Given the description of an element on the screen output the (x, y) to click on. 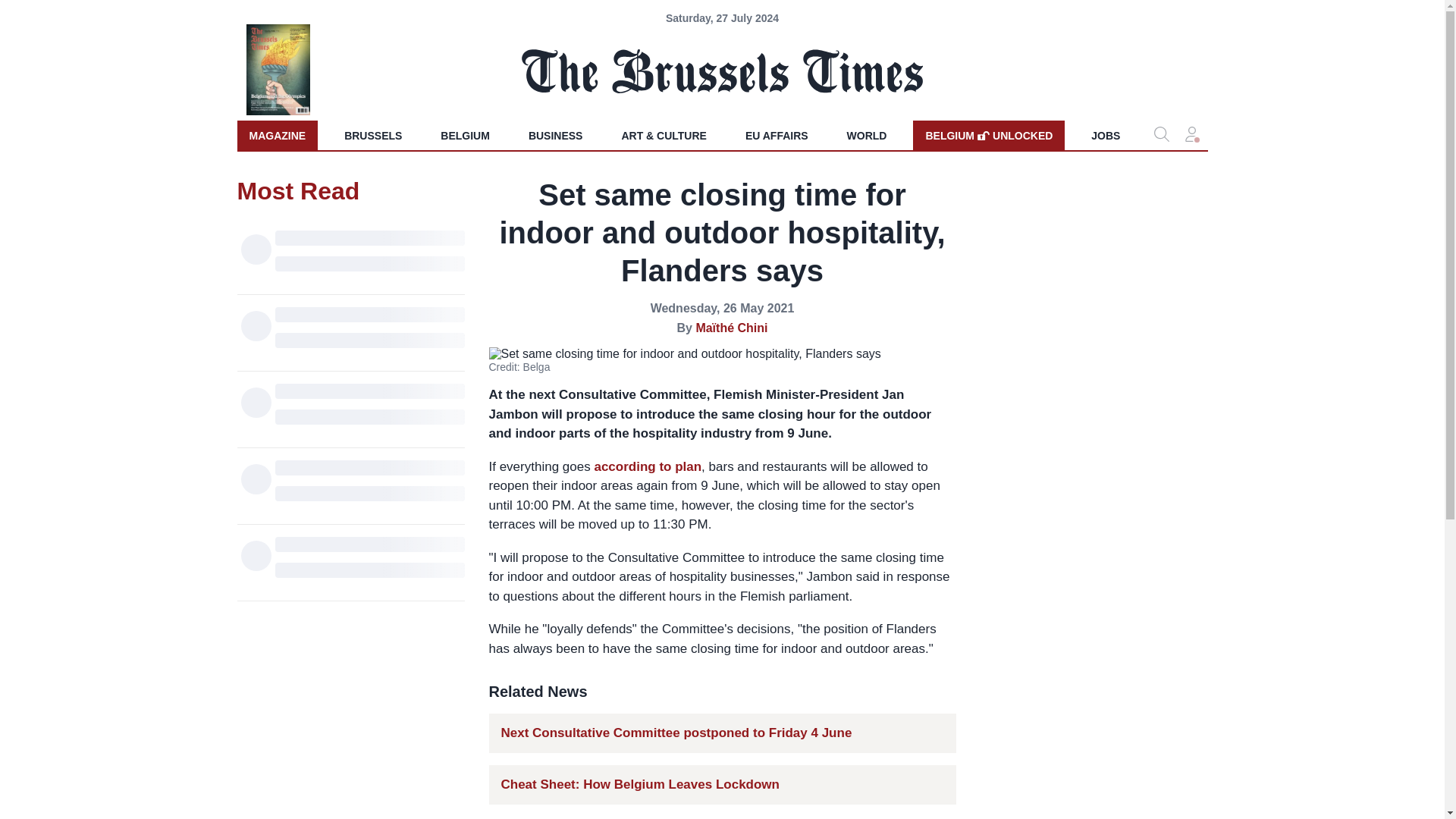
EU AFFAIRS (777, 135)
BRUSSELS (372, 135)
Cheat Sheet: How Belgium Leaves Lockdown (639, 784)
WORLD (866, 135)
JOBS (1105, 135)
MAGAZINE (276, 135)
BELGIUM (465, 135)
BUSINESS (555, 135)
according to plan (647, 466)
Next Consultative Committee postponed to Friday 4 June (988, 135)
